Given the description of an element on the screen output the (x, y) to click on. 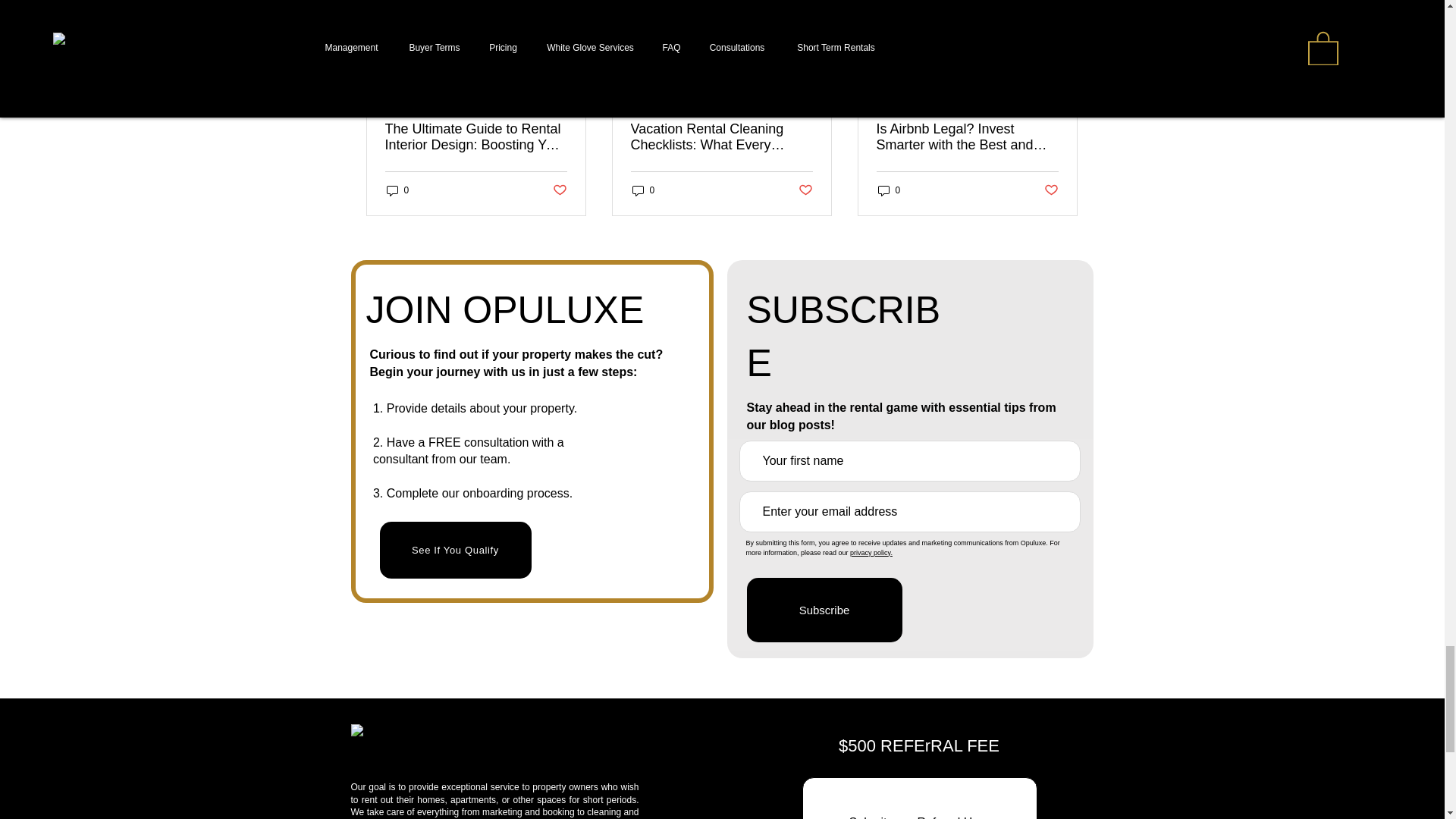
0 (889, 190)
Post not marked as liked (804, 190)
Submit your Referral Here (919, 798)
Post not marked as liked (558, 190)
Subscribe (823, 610)
0 (643, 190)
0 (397, 190)
See If You Qualify (454, 549)
privacy policy. (871, 552)
Post not marked as liked (1050, 190)
